Given the description of an element on the screen output the (x, y) to click on. 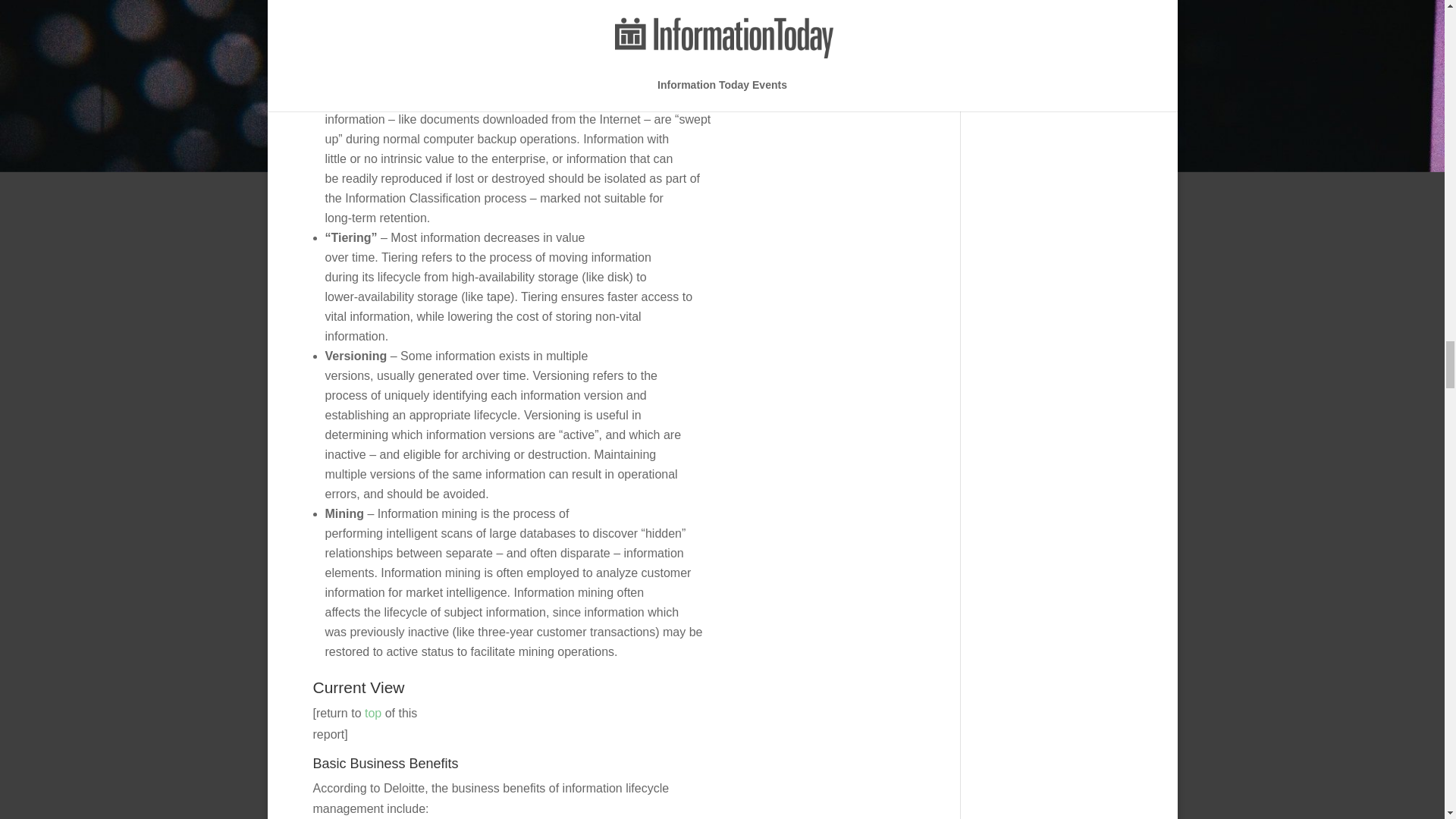
Return to top of page (373, 712)
top (373, 712)
